Given the description of an element on the screen output the (x, y) to click on. 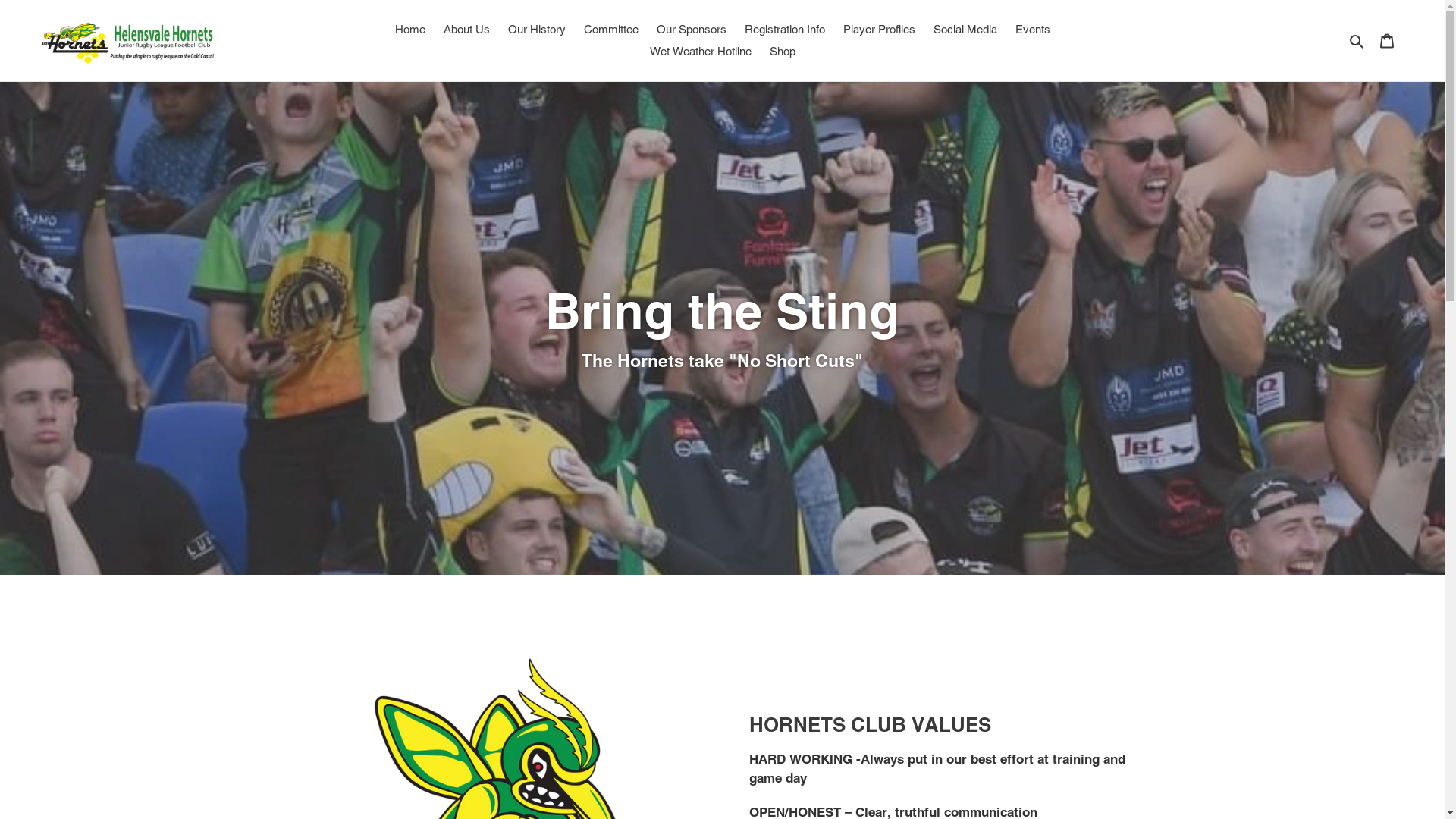
Events Element type: text (1032, 29)
Search Element type: text (1357, 40)
Social Media Element type: text (964, 29)
Shop Element type: text (781, 51)
Player Profiles Element type: text (878, 29)
Home Element type: text (409, 29)
Our Sponsors Element type: text (691, 29)
Cart Element type: text (1386, 40)
Wet Weather Hotline Element type: text (699, 51)
Our History Element type: text (536, 29)
Committee Element type: text (611, 29)
Registration Info Element type: text (784, 29)
About Us Element type: text (465, 29)
